Given the description of an element on the screen output the (x, y) to click on. 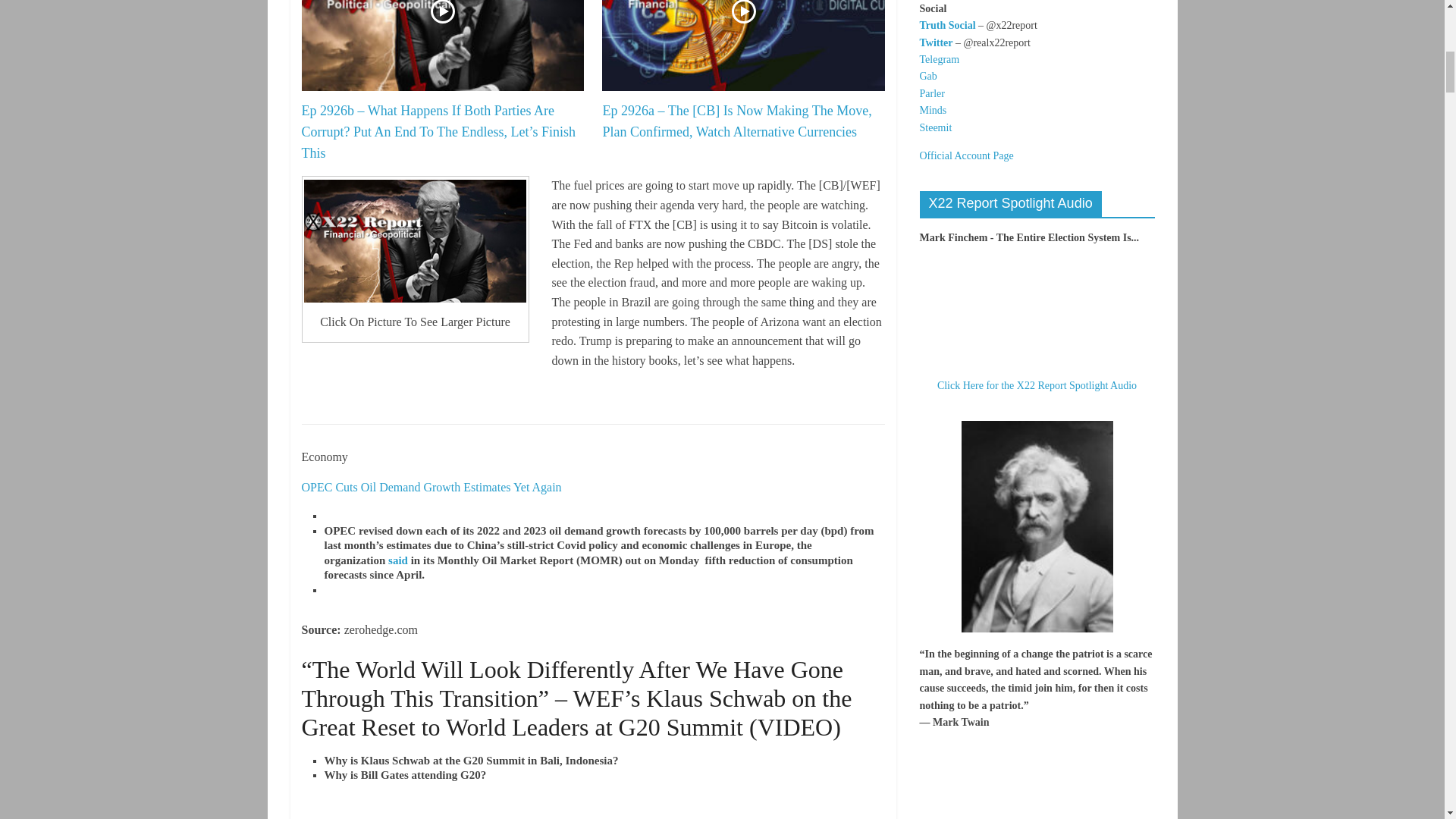
Twitter Tweet (415, 812)
said (397, 560)
OPEC Cuts Oil Demand Growth Estimates Yet Again  (432, 486)
